Given the description of an element on the screen output the (x, y) to click on. 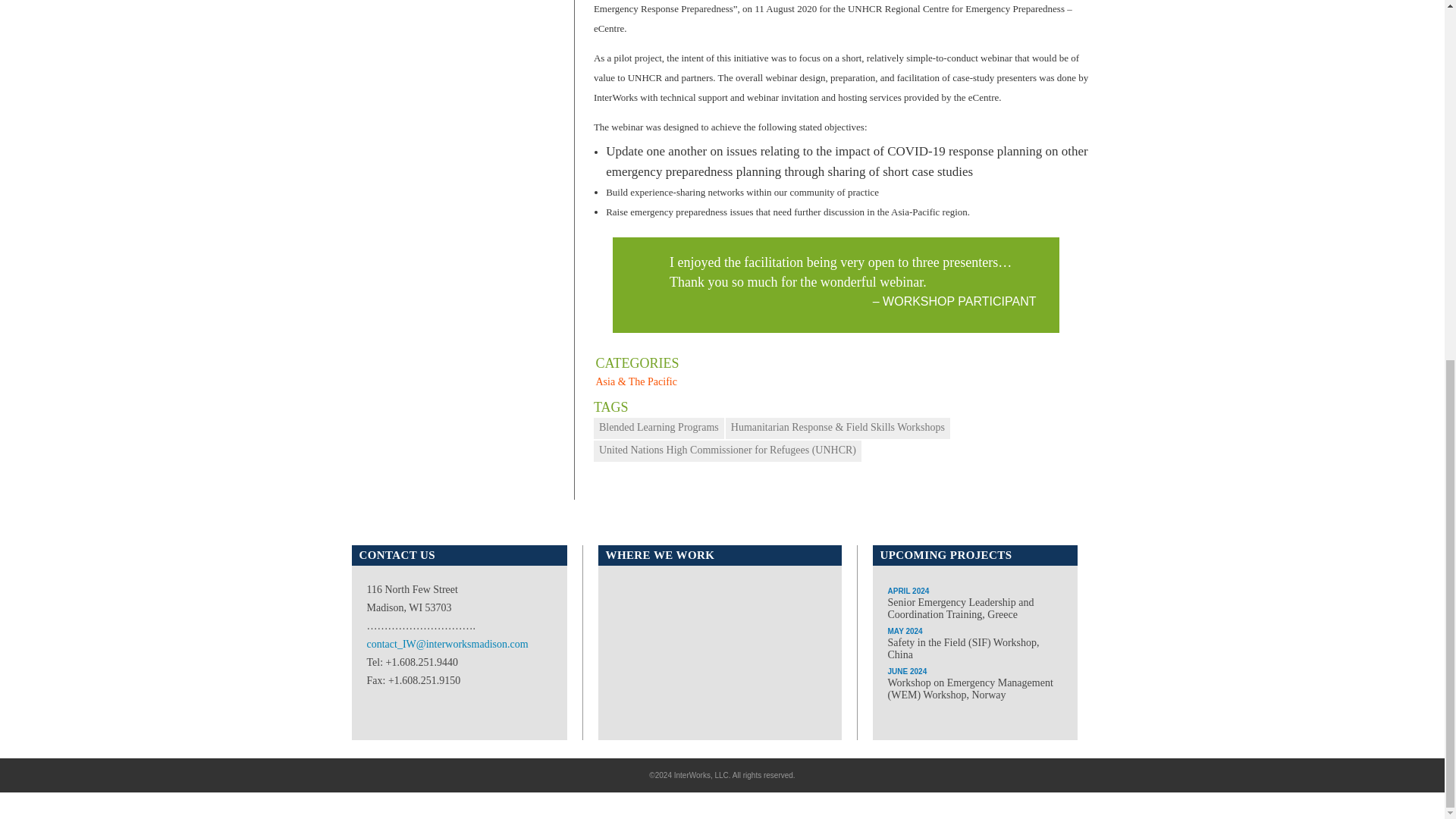
View all posts by admin (609, 360)
4:37 pm (630, 360)
